Given the description of an element on the screen output the (x, y) to click on. 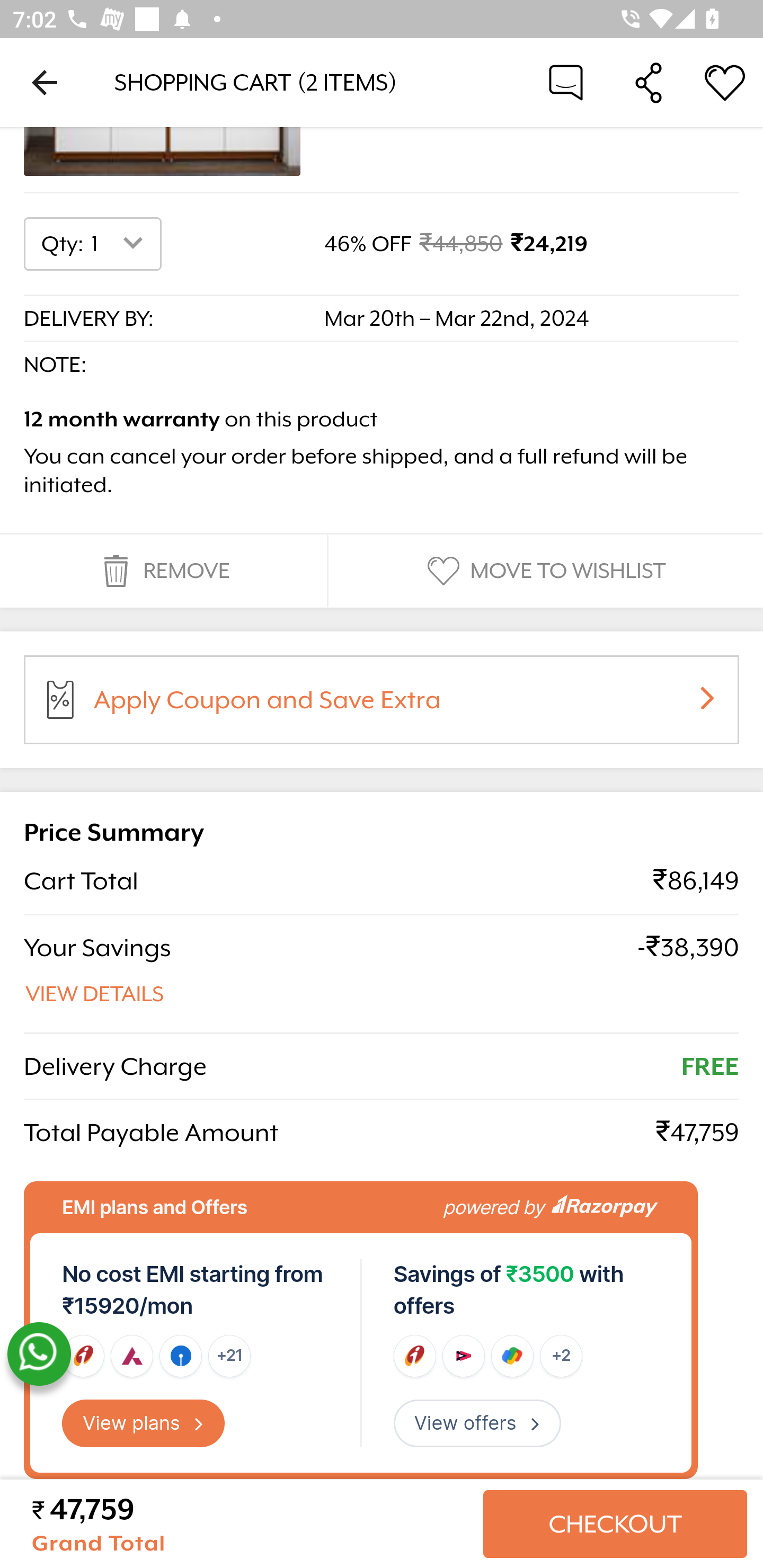
Navigate up (44, 82)
Chat (565, 81)
Share Cart (648, 81)
Wishlist (724, 81)
1 (121, 245)
REMOVE (163, 572)
MOVE TO WISHLIST (544, 572)
Apply Coupon and Save Extra (402, 707)
VIEW DETAILS (95, 995)
whatsapp (38, 1355)
View plans (143, 1424)
View offers (476, 1424)
₹ 47,759 Grand Total (250, 1525)
CHECKOUT (614, 1525)
